Given the description of an element on the screen output the (x, y) to click on. 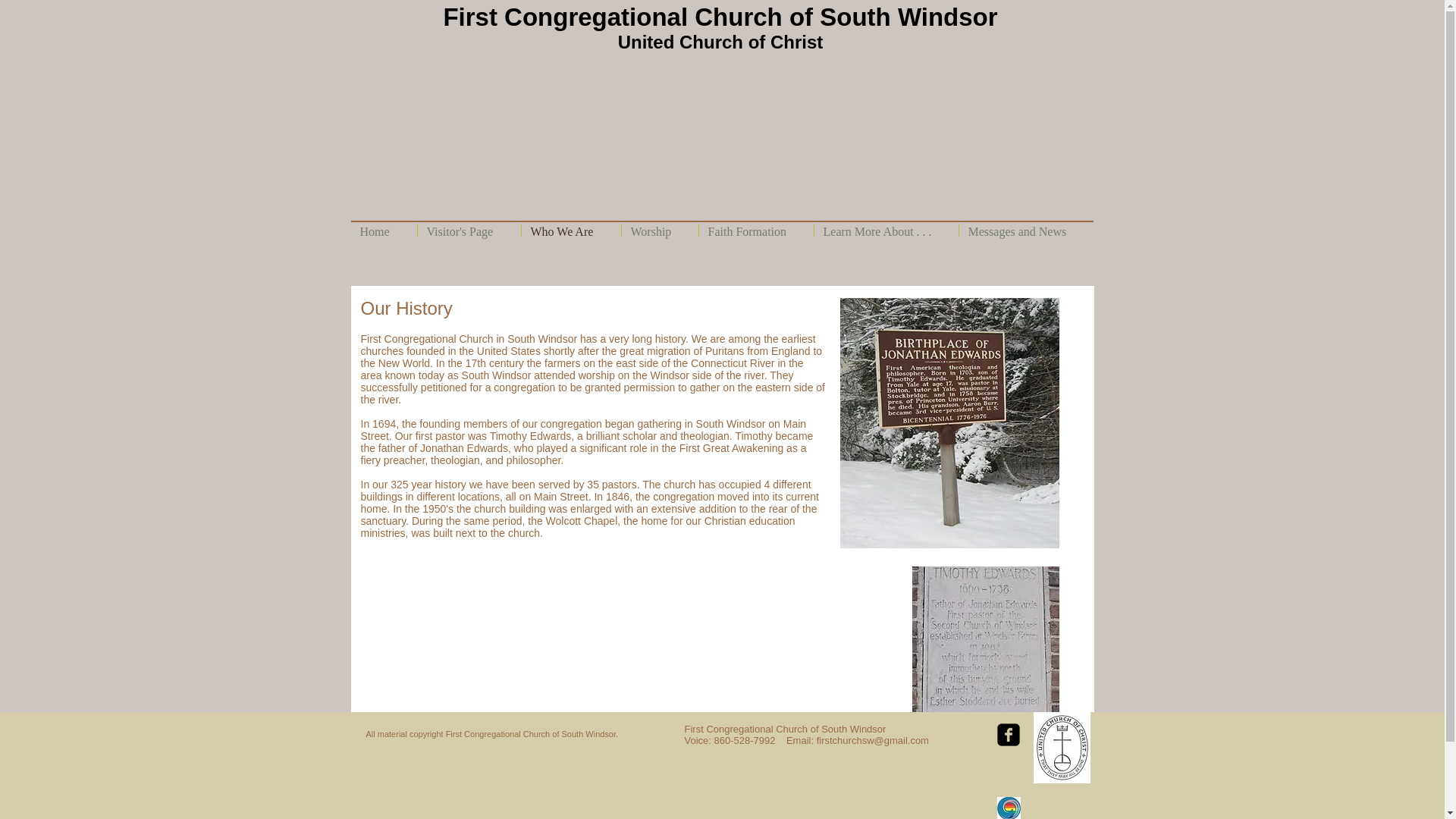
Who We Are (571, 229)
Home (383, 229)
Faith Formation (755, 229)
Learn More About . . . (885, 229)
Visitor's Page (467, 229)
Worship (659, 229)
Messages and News (1025, 229)
